Given the description of an element on the screen output the (x, y) to click on. 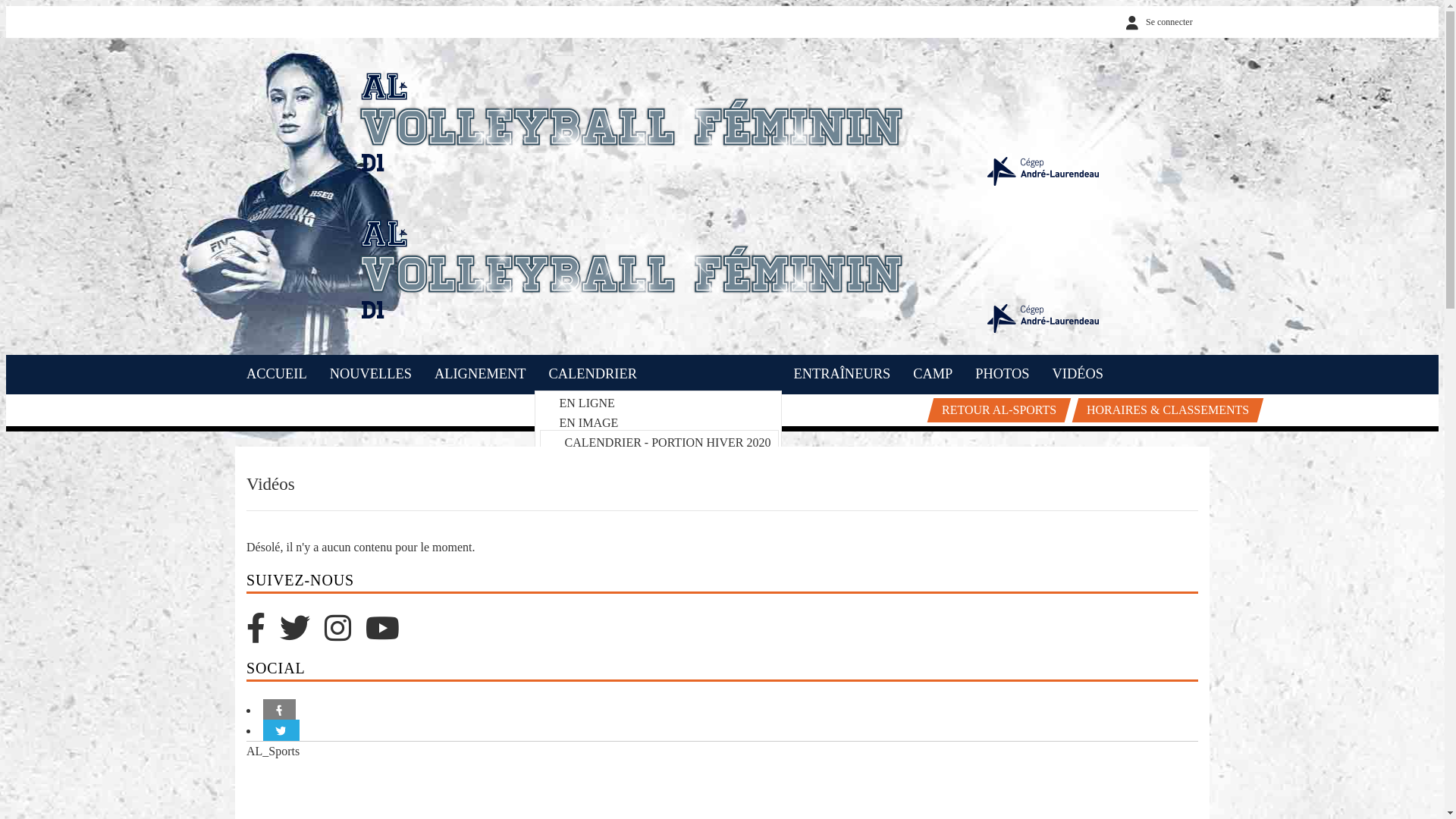
AL_Sports Element type: text (272, 750)
EN IMAGE Element type: text (589, 422)
CALENDRIER Element type: text (592, 374)
RETOUR AL-SPORTS Element type: text (995, 410)
PHOTOS Element type: text (1001, 374)
EN LIGNE Element type: text (587, 402)
Twitter Element type: hover (301, 634)
Instagram Element type: hover (344, 634)
Youtube Element type: hover (388, 634)
NOUVELLES Element type: text (370, 374)
HORAIRES & CLASSEMENTS Element type: text (1164, 410)
ALIGNEMENT Element type: text (480, 374)
CAMP Element type: text (932, 374)
Se connecter Element type: text (1155, 21)
Facebook Element type: hover (262, 634)
CONTACTS Element type: text (829, 406)
CALENDRIER - PORTION HIVER 2020 Element type: text (667, 442)
ACCUEIL Element type: text (276, 374)
